Given the description of an element on the screen output the (x, y) to click on. 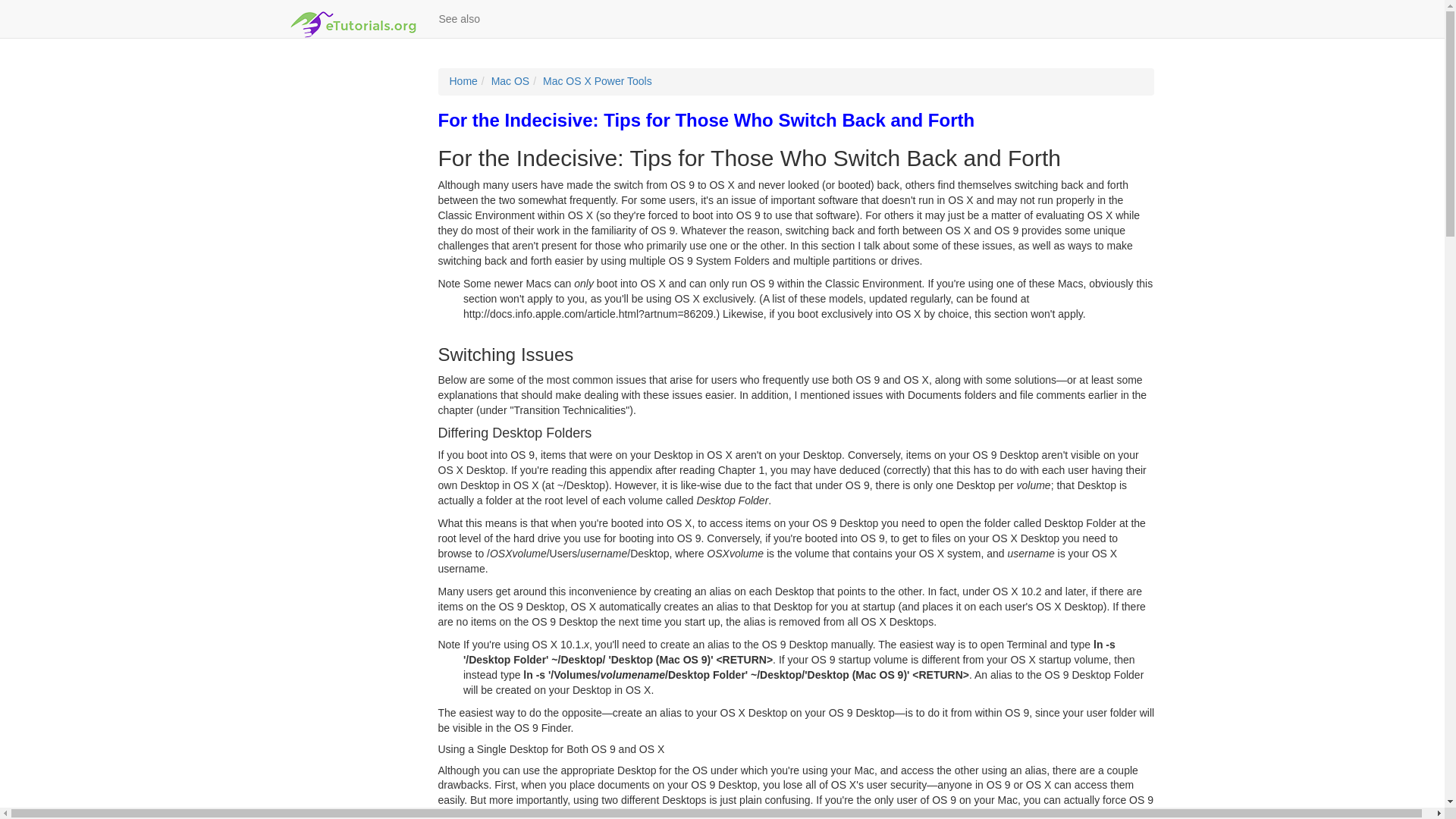
See also (460, 18)
Home (462, 80)
Mac OS (510, 80)
Mac OS X Power Tools (597, 80)
Main Page (462, 80)
Tutorial (597, 80)
To home page (353, 18)
Category (510, 80)
